Given the description of an element on the screen output the (x, y) to click on. 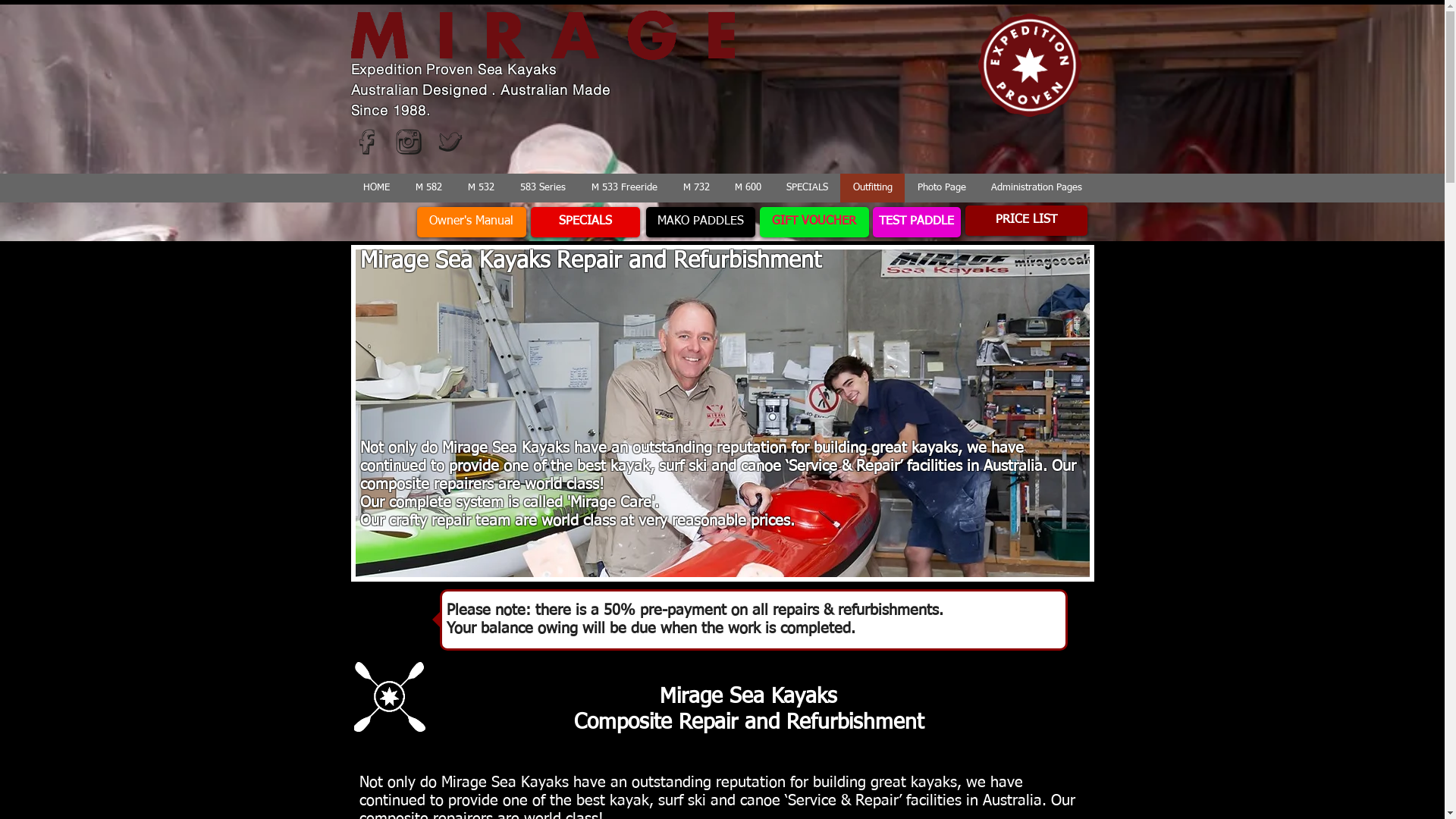
M 600 Element type: text (747, 187)
PRICE LIST Element type: text (1025, 220)
Outfitting Element type: text (872, 187)
SPECIALS Element type: text (806, 187)
Photo Page Element type: text (940, 187)
M 533 Freeride Element type: text (623, 187)
TEST PADDLE Element type: text (916, 222)
HOME Element type: text (375, 187)
SPECIALS Element type: text (585, 222)
Kayak & surf ski repairs Element type: hover (721, 412)
583 Series Element type: text (541, 187)
GIFT VOUCHER Element type: text (814, 222)
Owner's Manual Element type: text (471, 222)
Administration Pages Element type: text (1036, 187)
M 582 Element type: text (427, 187)
MAKO PADDLES Element type: text (700, 222)
M 532 Element type: text (481, 187)
M 732 Element type: text (695, 187)
